Given the description of an element on the screen output the (x, y) to click on. 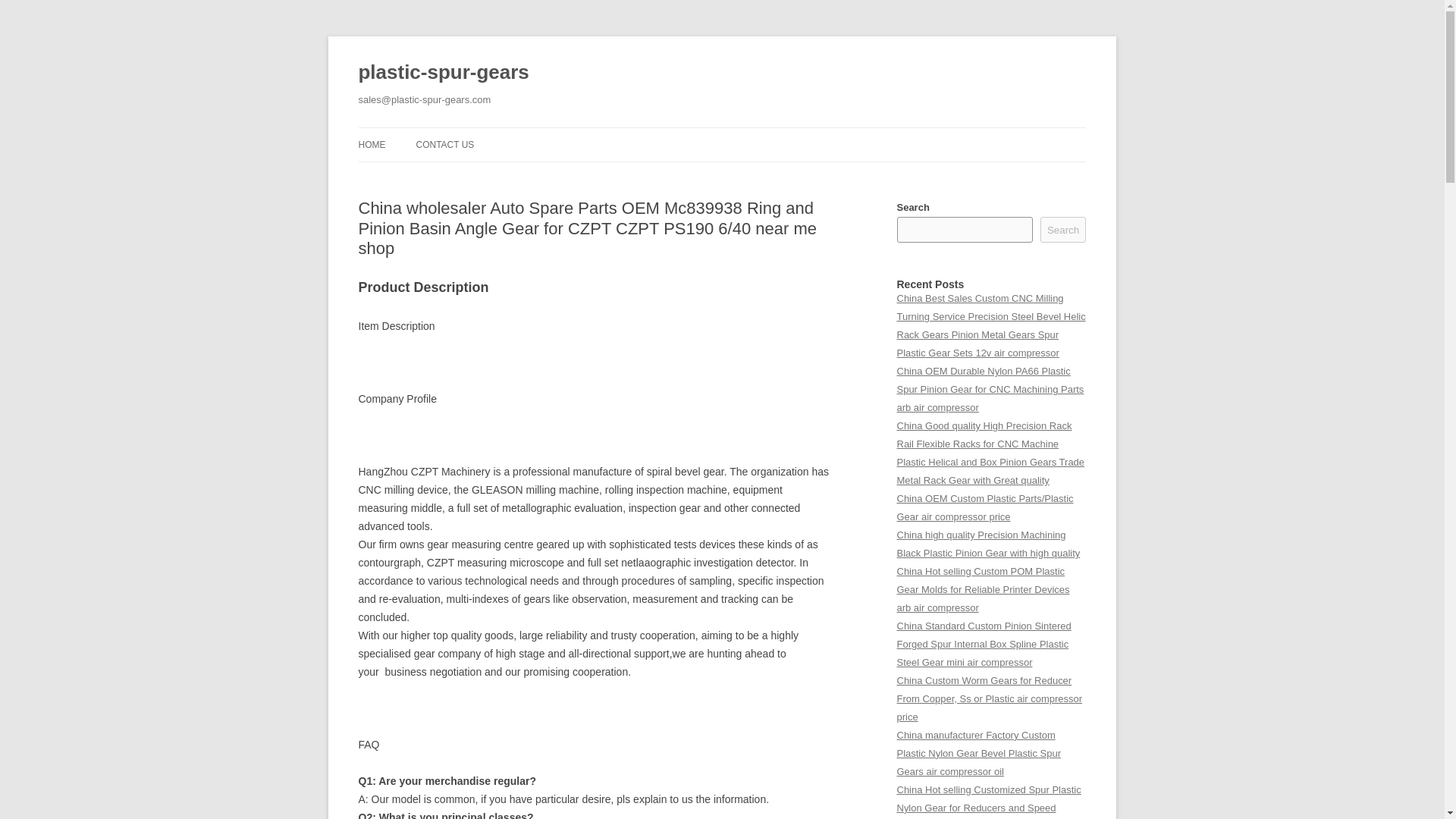
CONTACT US (444, 144)
plastic-spur-gears (443, 72)
